Given the description of an element on the screen output the (x, y) to click on. 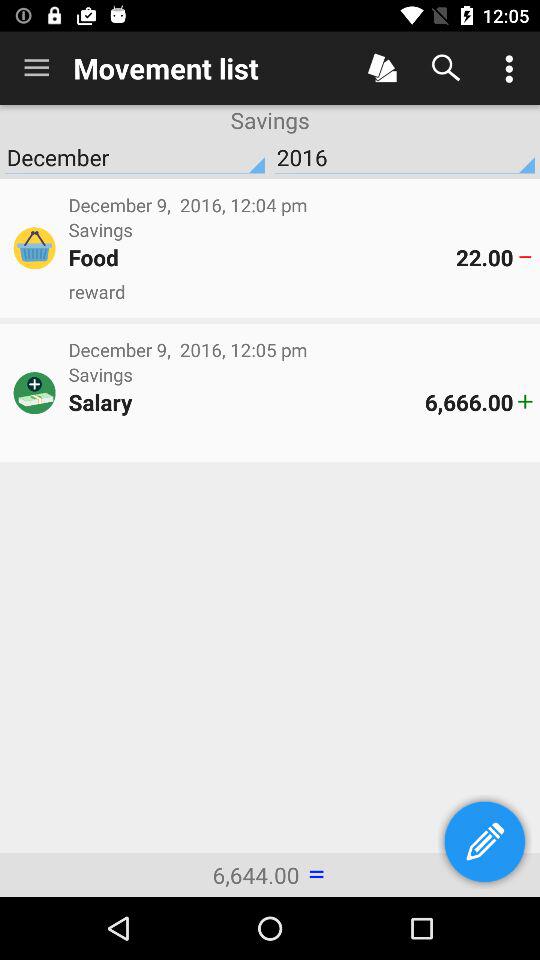
jump to the food icon (262, 257)
